Given the description of an element on the screen output the (x, y) to click on. 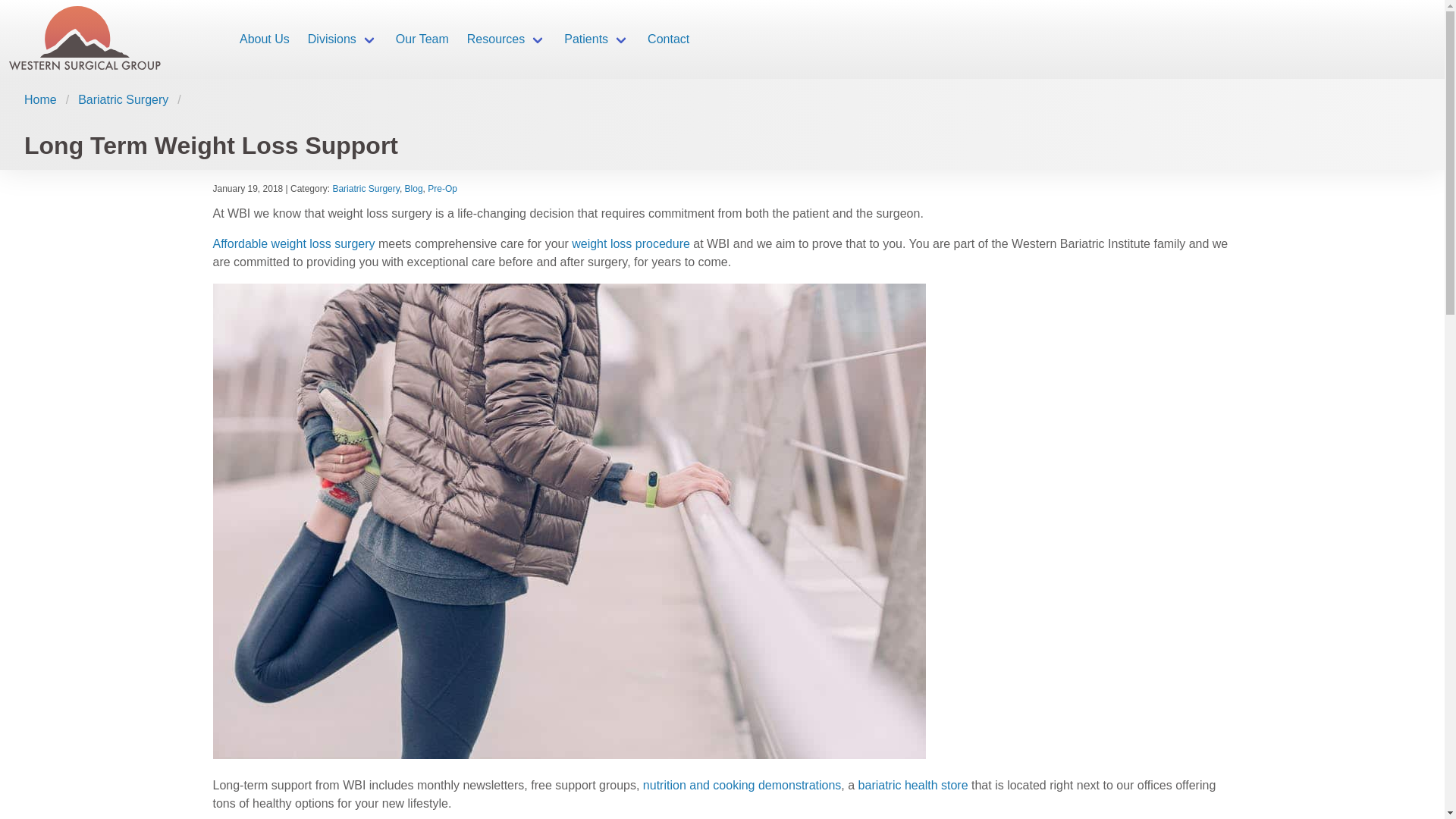
Bariatric Surgery (122, 99)
Resources (506, 39)
Affordable weight loss surgery (294, 243)
Home (44, 99)
Pre-Op (442, 188)
bariatric health store (913, 784)
Blog (413, 188)
Patients (596, 39)
weight loss procedure (629, 243)
Our Team (422, 39)
nutrition and cooking demonstrations (742, 784)
Divisions (342, 39)
Bariatric Surgery (364, 188)
